Given the description of an element on the screen output the (x, y) to click on. 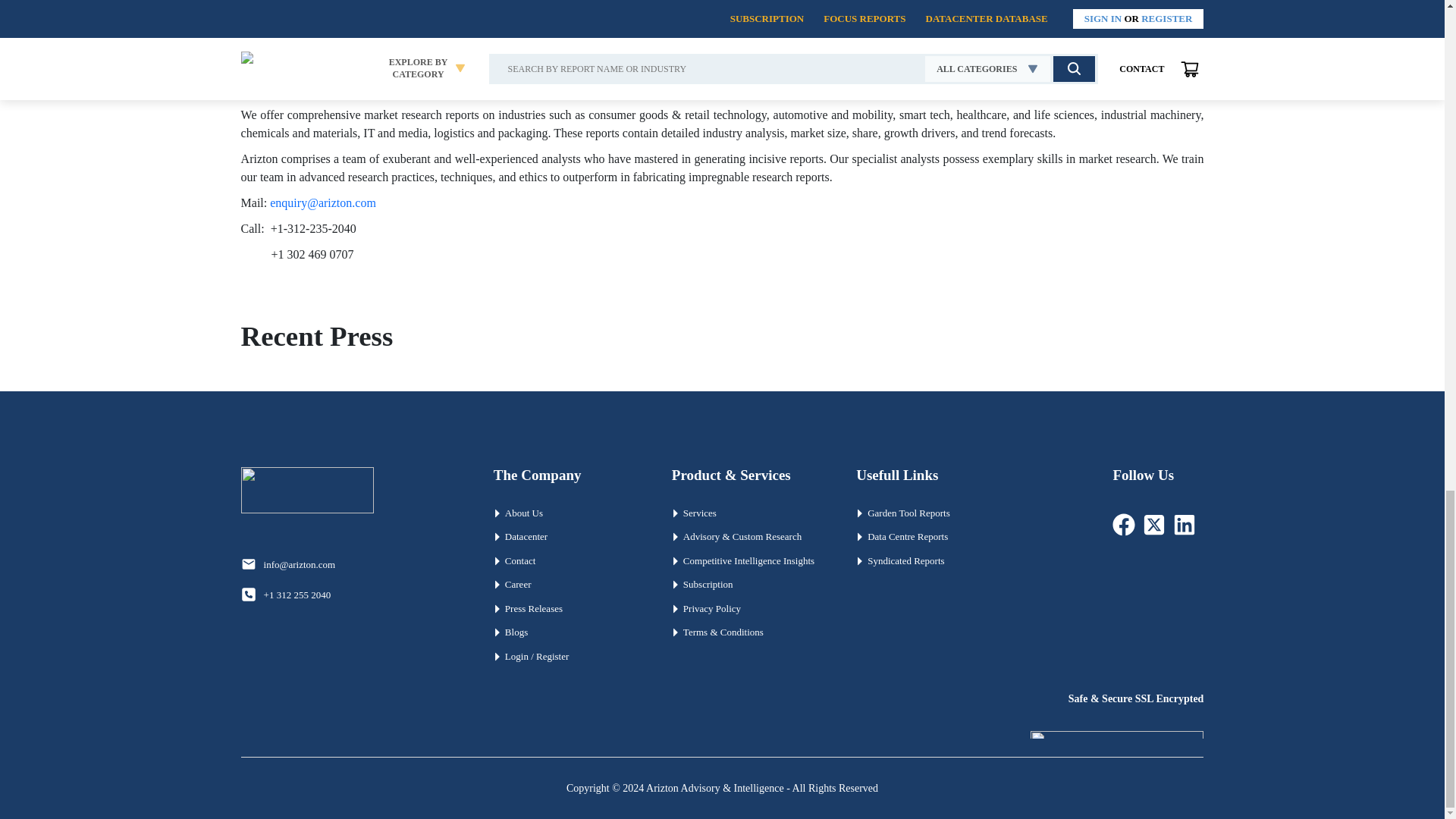
Contact (567, 560)
Services (747, 513)
Press Releases (567, 608)
Career (567, 584)
Datacenter (567, 536)
About Us (567, 513)
Competitive Intelligence Insights (747, 560)
Blogs (567, 631)
